Given the description of an element on the screen output the (x, y) to click on. 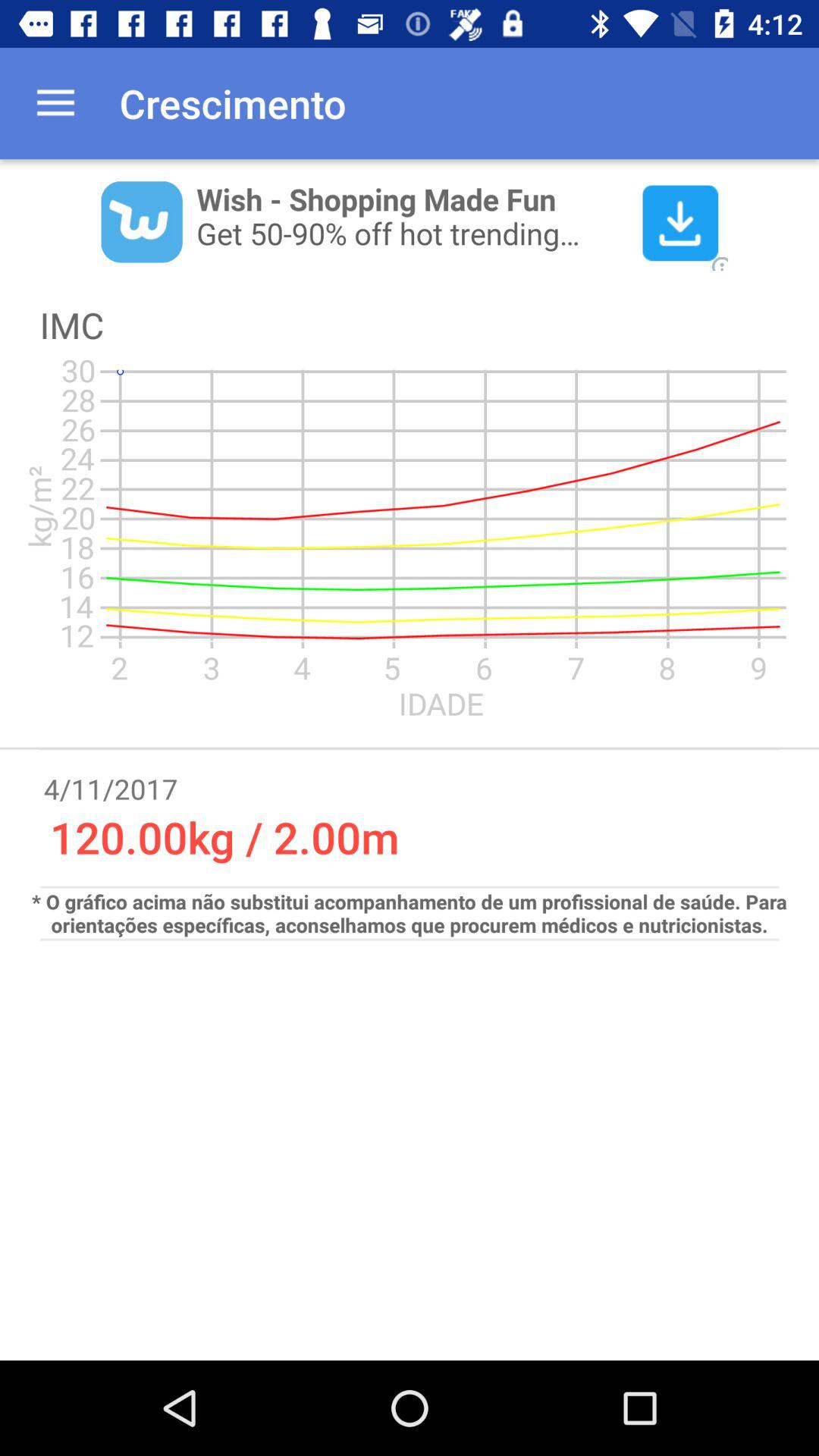
wish advertisement (409, 220)
